Given the description of an element on the screen output the (x, y) to click on. 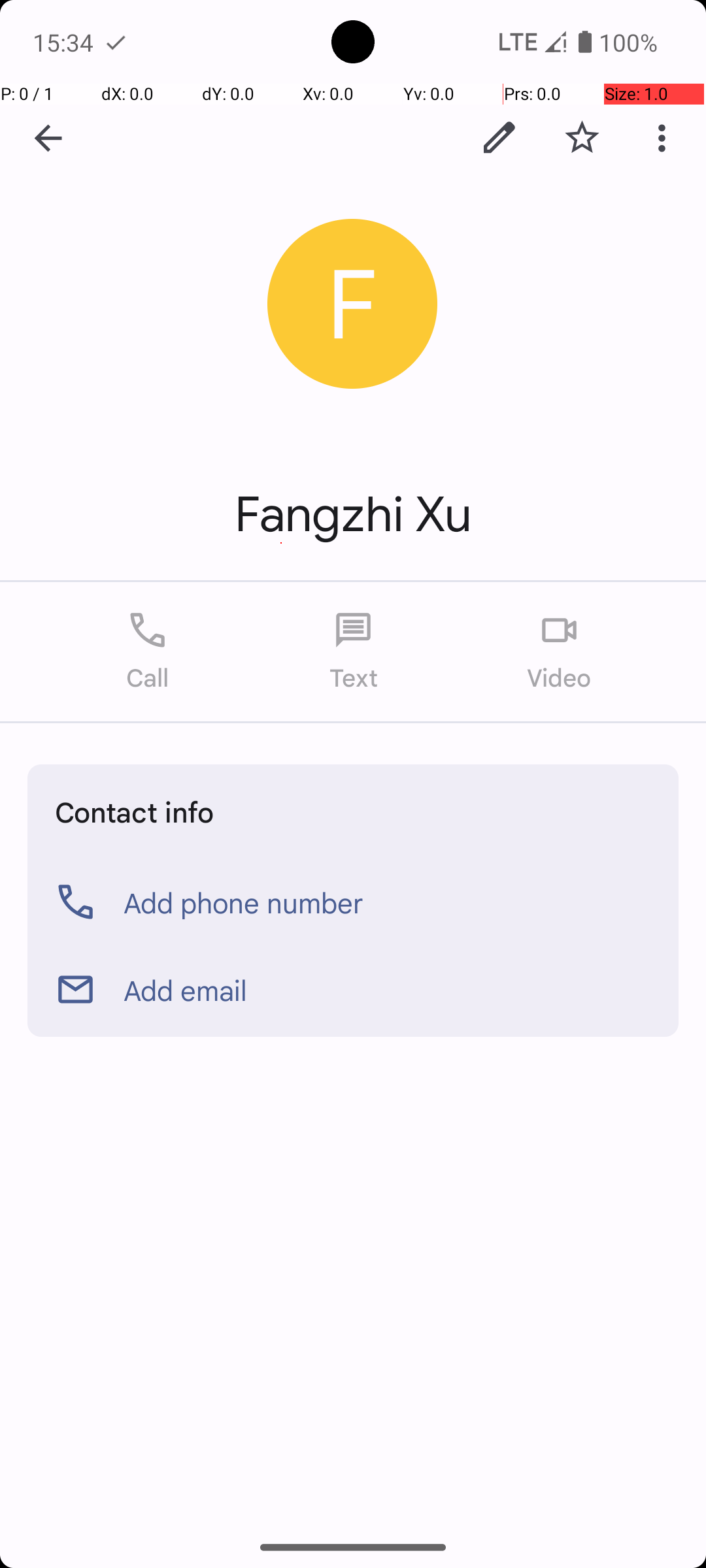
Edit contact Element type: android.widget.Button (498, 137)
Contact photo Element type: android.widget.ImageView (352, 303)
Text Element type: android.widget.TextView (353, 651)
Contact info Element type: android.widget.TextView (134, 811)
Add phone number Element type: android.widget.TextView (243, 901)
Add email Element type: android.widget.TextView (185, 989)
